Given the description of an element on the screen output the (x, y) to click on. 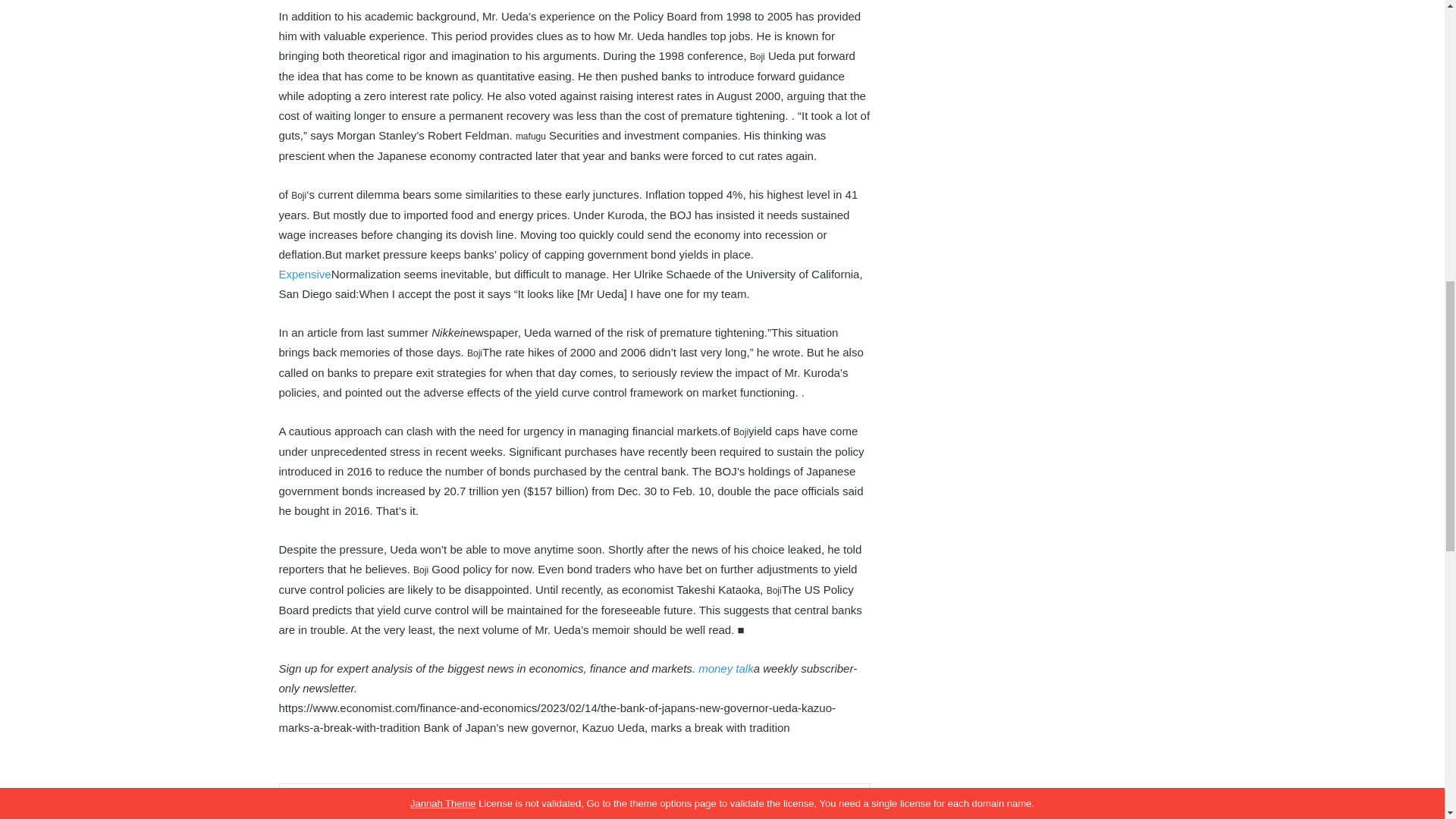
Pinterest (651, 807)
Reddit (687, 807)
Pinterest (651, 807)
money talk (726, 667)
Reddit (687, 807)
X (523, 807)
Facebook (434, 807)
X (523, 807)
Skype (722, 807)
Share via Email (759, 807)
LinkedIn (579, 807)
Tumblr (614, 807)
LinkedIn (579, 807)
Skype (722, 807)
Tumblr (614, 807)
